Given the description of an element on the screen output the (x, y) to click on. 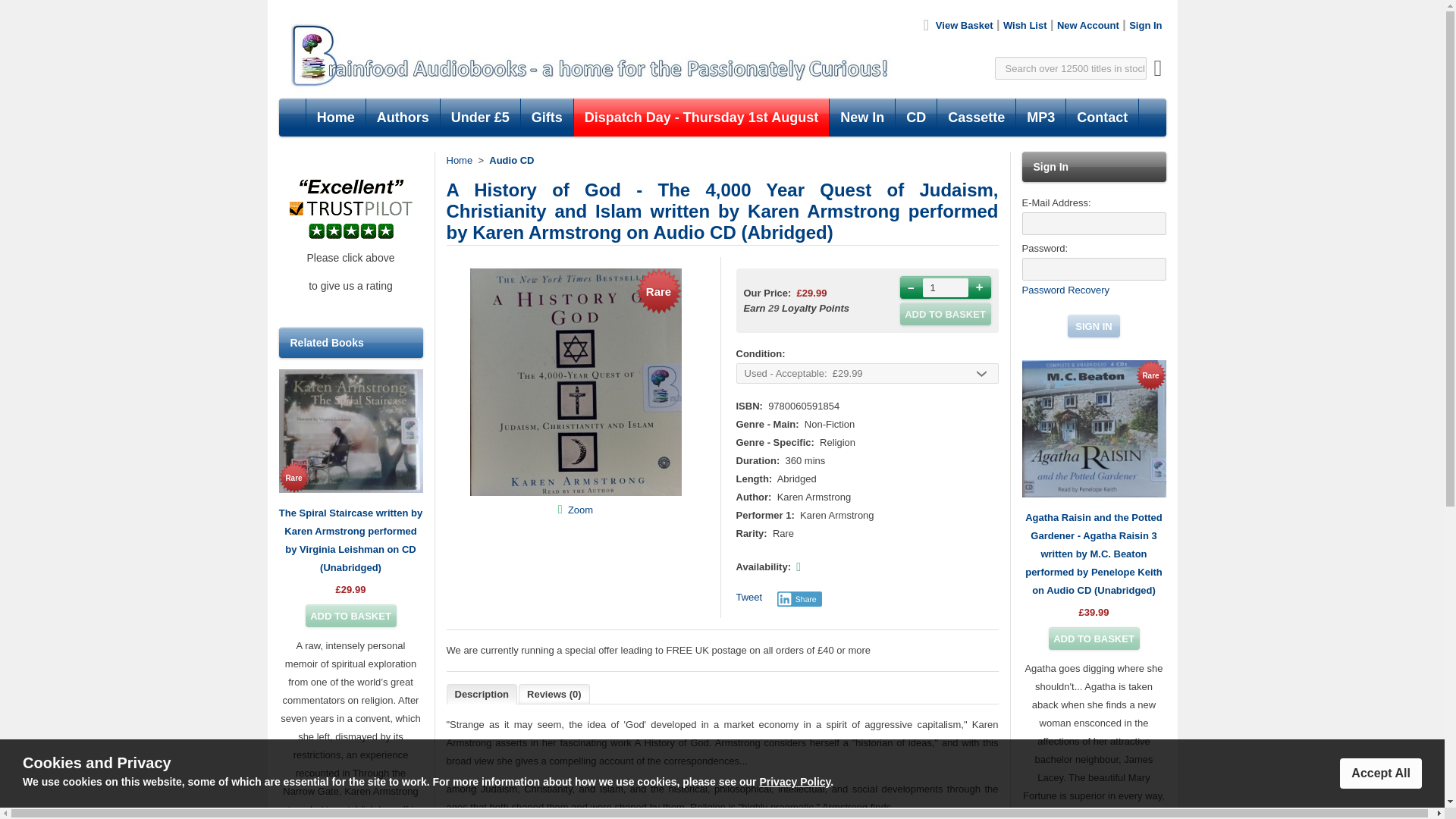
1 (944, 286)
SIGN IN (1093, 325)
Tweet (748, 596)
Order Before 9 am on Thursday for Dispatch on Thursday! (701, 116)
ADD TO BASKET (1093, 638)
Description (481, 693)
Audio CD (511, 160)
Password Recovery (1065, 289)
ADD TO BASKET (350, 615)
Zoom (579, 509)
Home (458, 160)
ADD TO BASKET (944, 313)
Share (799, 598)
